Given the description of an element on the screen output the (x, y) to click on. 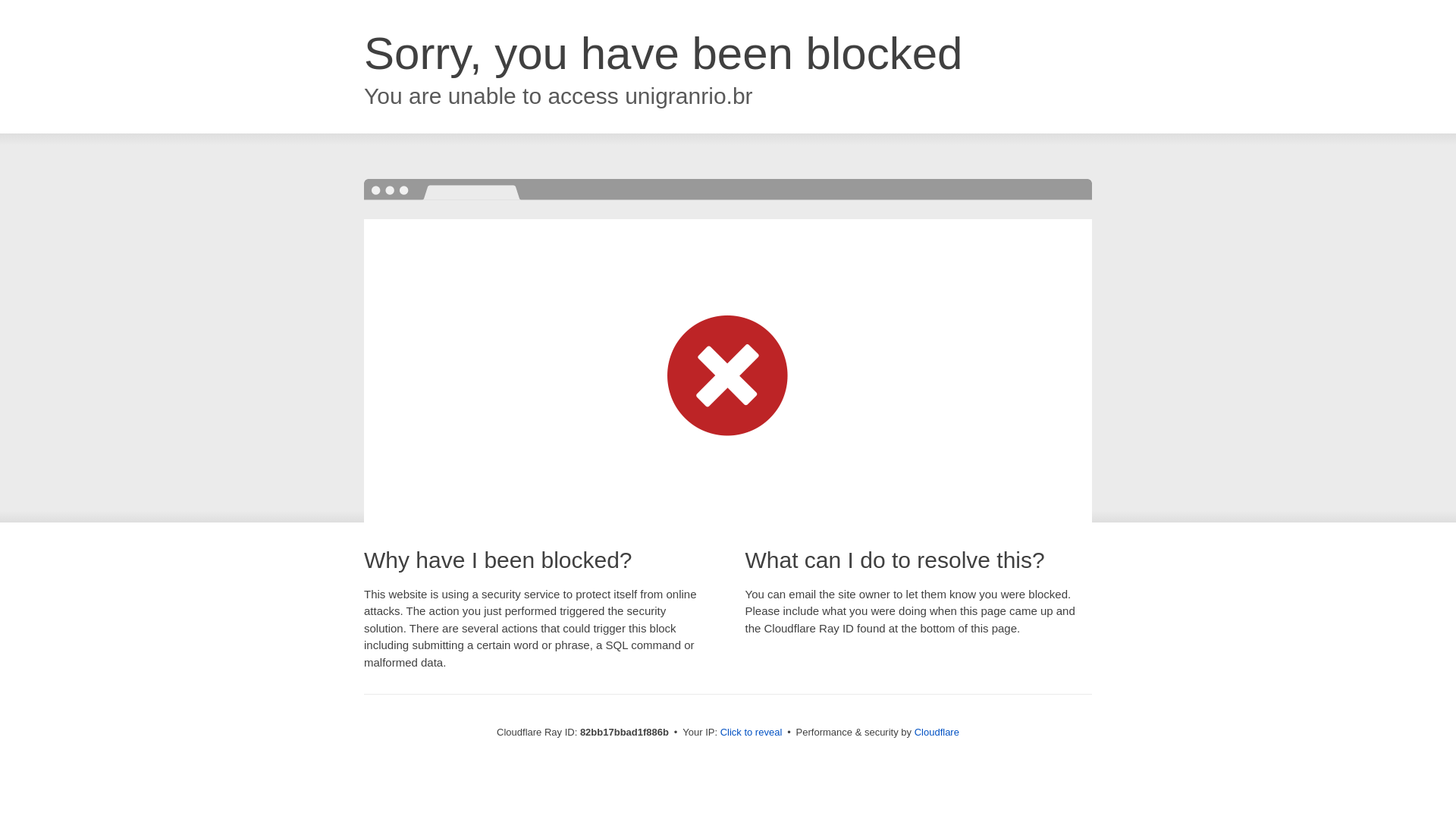
Cloudflare Element type: text (936, 731)
Click to reveal Element type: text (751, 732)
